Given the description of an element on the screen output the (x, y) to click on. 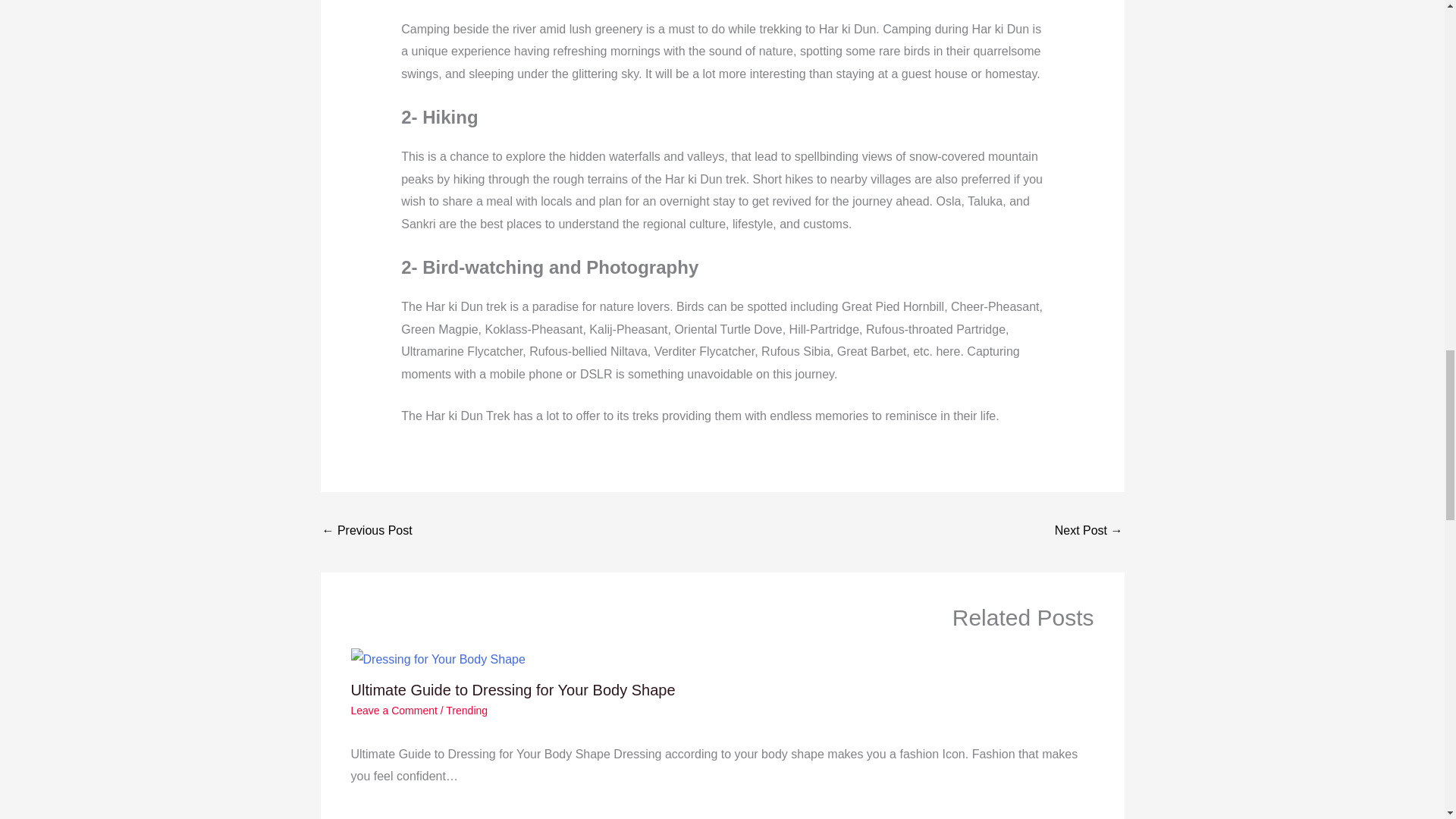
Places To Visit In Ladakh (1088, 531)
Ultimate Guide to Dressing for Your Body Shape (512, 689)
Trending (466, 710)
5 Astonishing Anniversary Gift Ideas For Your Lovely Parents (366, 531)
Ultimate Guide to Dressing for Your Body Shape 3 (437, 659)
Leave a Comment (393, 710)
